Given the description of an element on the screen output the (x, y) to click on. 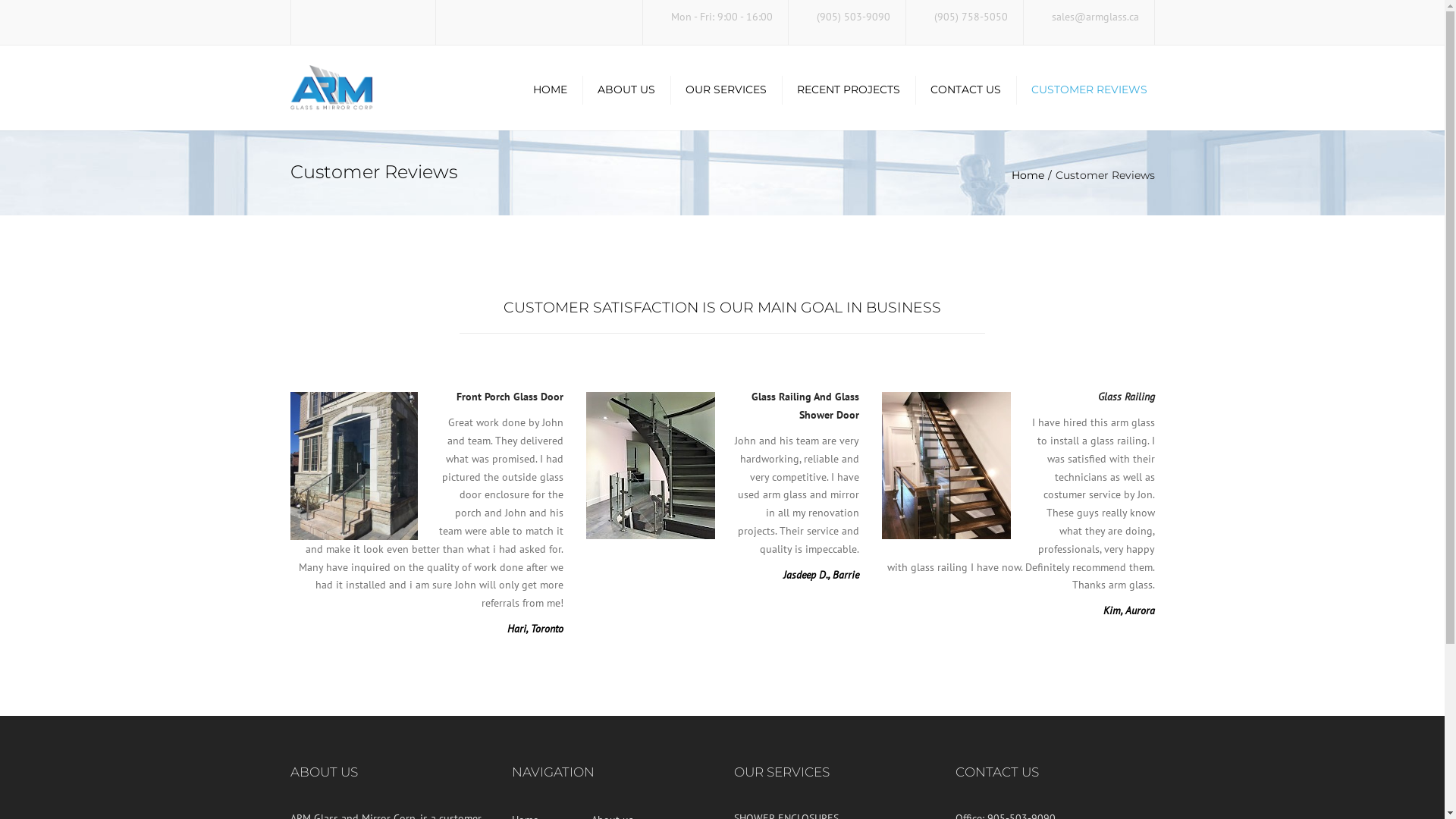
Glass Railing Element type: text (1126, 396)
CUSTOMER REVIEWS Element type: text (1088, 89)
Home Element type: text (1033, 175)
ABOUT US Element type: text (625, 89)
Glass Railing And Glass Shower Door Element type: text (804, 405)
CONTACT US Element type: text (964, 89)
RECENT PROJECTS Element type: text (847, 89)
OUR SERVICES Element type: text (725, 89)
Front Porch Glass Door Element type: text (509, 396)
sales@armglass.ca Element type: text (1094, 11)
HOME Element type: text (553, 89)
